Given the description of an element on the screen output the (x, y) to click on. 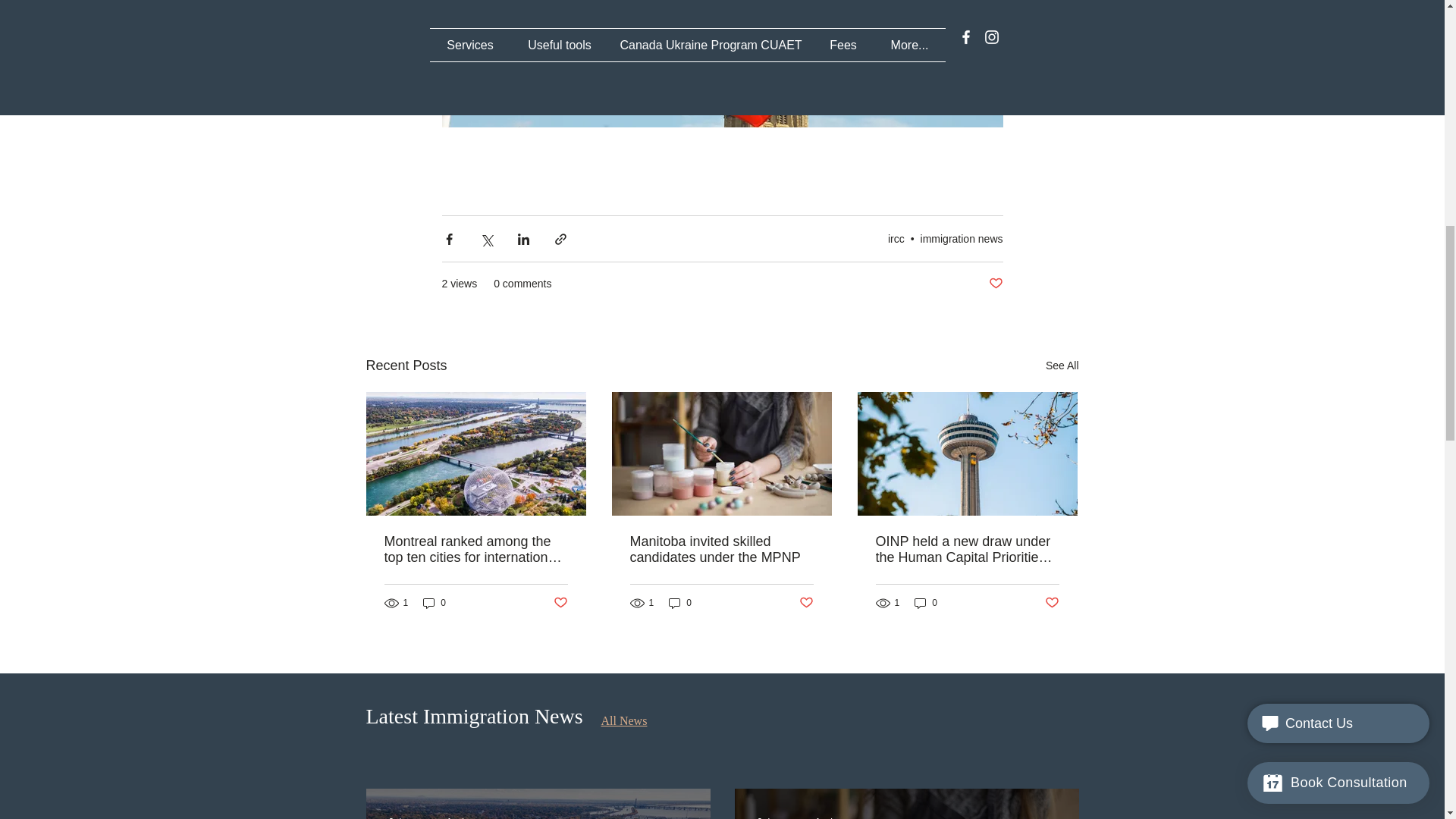
1 min (826, 817)
1 min (457, 817)
Post not marked as liked (995, 283)
2 days ago (779, 817)
Manitoba invited skilled candidates under the MPNP (720, 549)
immigration news (961, 238)
Post not marked as liked (806, 602)
Post not marked as liked (560, 602)
0 (679, 603)
Post not marked as liked (1052, 602)
0 (434, 603)
ircc (896, 238)
2 days ago (410, 817)
